Given the description of an element on the screen output the (x, y) to click on. 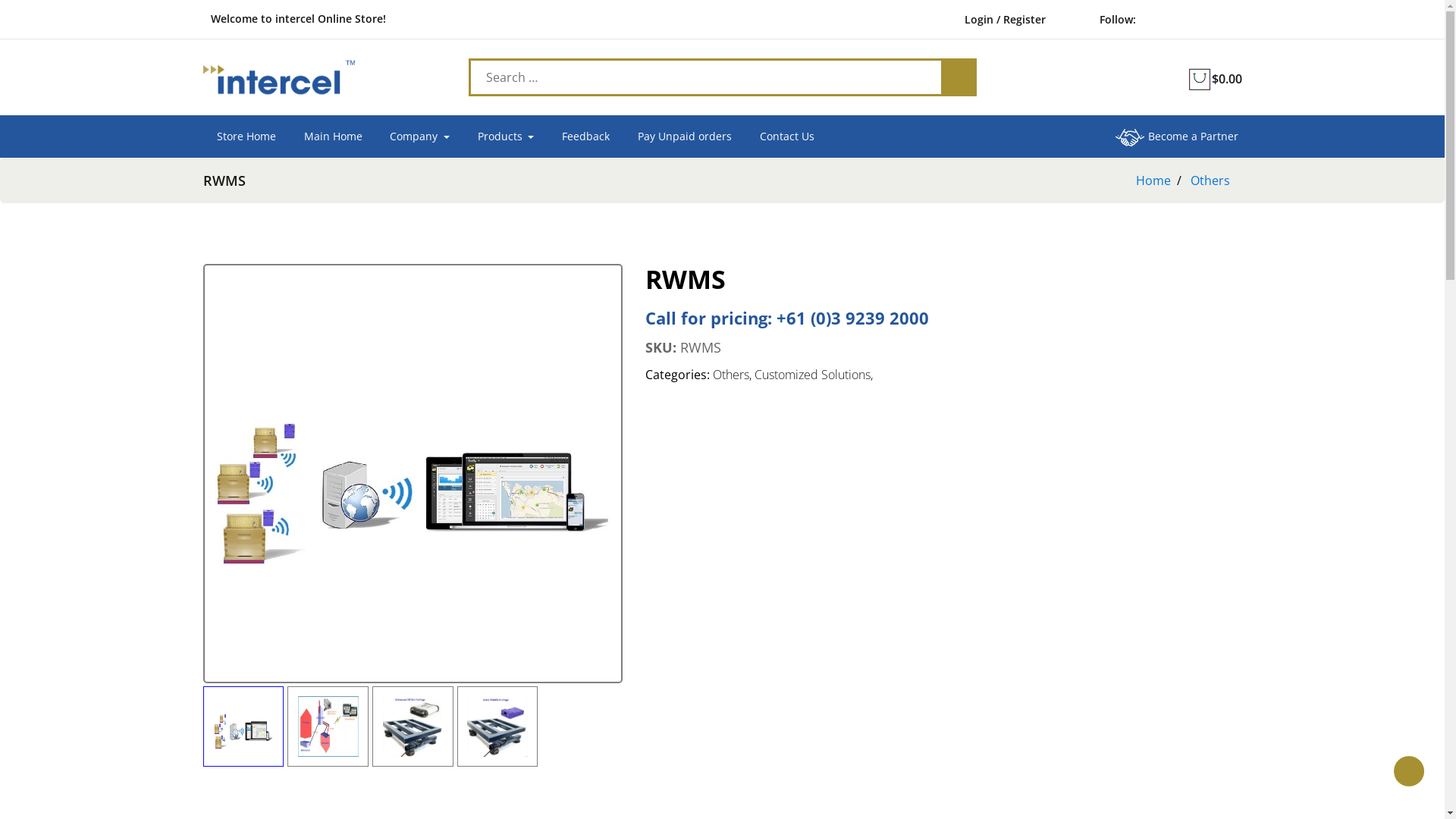
Contact Us Element type: text (786, 136)
Products Element type: text (505, 136)
Main Home Element type: text (332, 136)
$0.00 Element type: text (1214, 79)
Feedback Element type: text (586, 136)
Others Element type: text (730, 374)
Login / Register Element type: text (1002, 19)
Home Element type: text (1152, 180)
Pay Unpaid orders Element type: text (684, 136)
Company Element type: text (419, 136)
Become a Partner Element type: text (1177, 136)
Others Element type: text (1210, 180)
Customized Solutions Element type: text (812, 374)
Store Home Element type: text (246, 136)
